Given the description of an element on the screen output the (x, y) to click on. 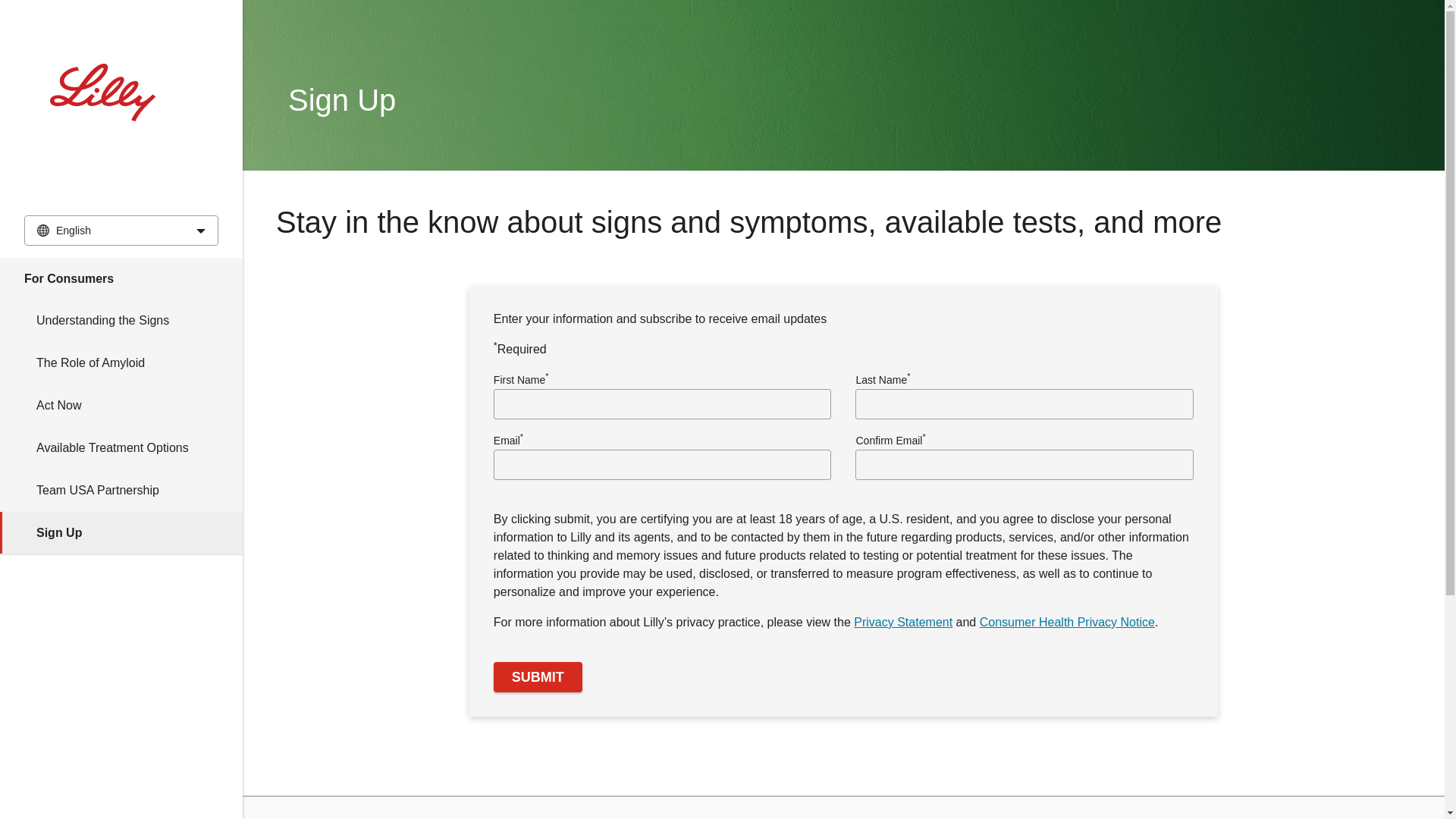
Act Now (121, 405)
Globe (43, 230)
Team USA Partnership (121, 490)
Available Treatment Options (121, 447)
English (120, 230)
Sign Up (121, 532)
For Consumers (121, 278)
Consumer Health Privacy Notice (1066, 621)
The Role of Amyloid (121, 363)
Privacy Statement (902, 621)
